Given the description of an element on the screen output the (x, y) to click on. 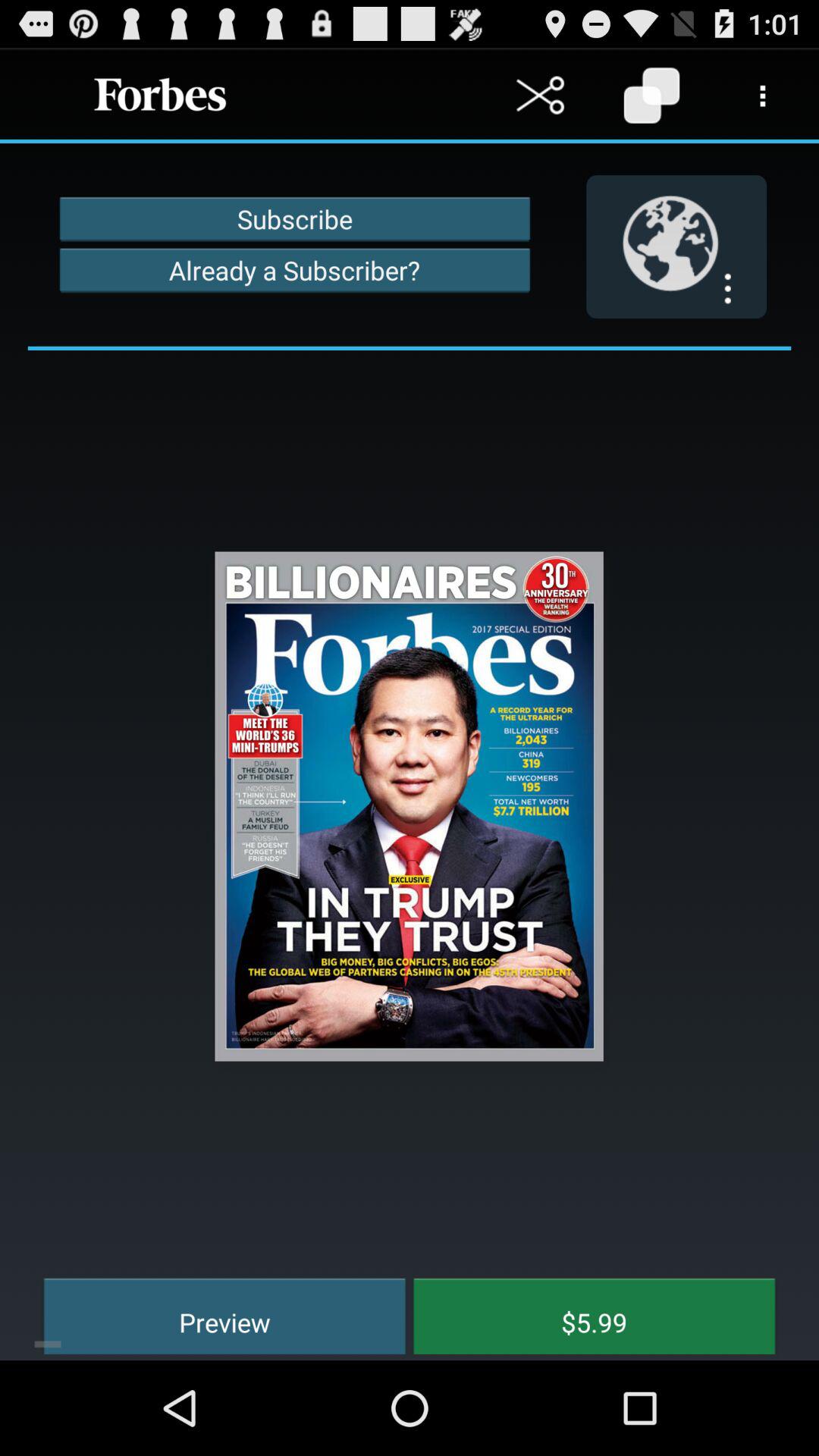
choose the icon above already a subscriber? icon (294, 218)
